Given the description of an element on the screen output the (x, y) to click on. 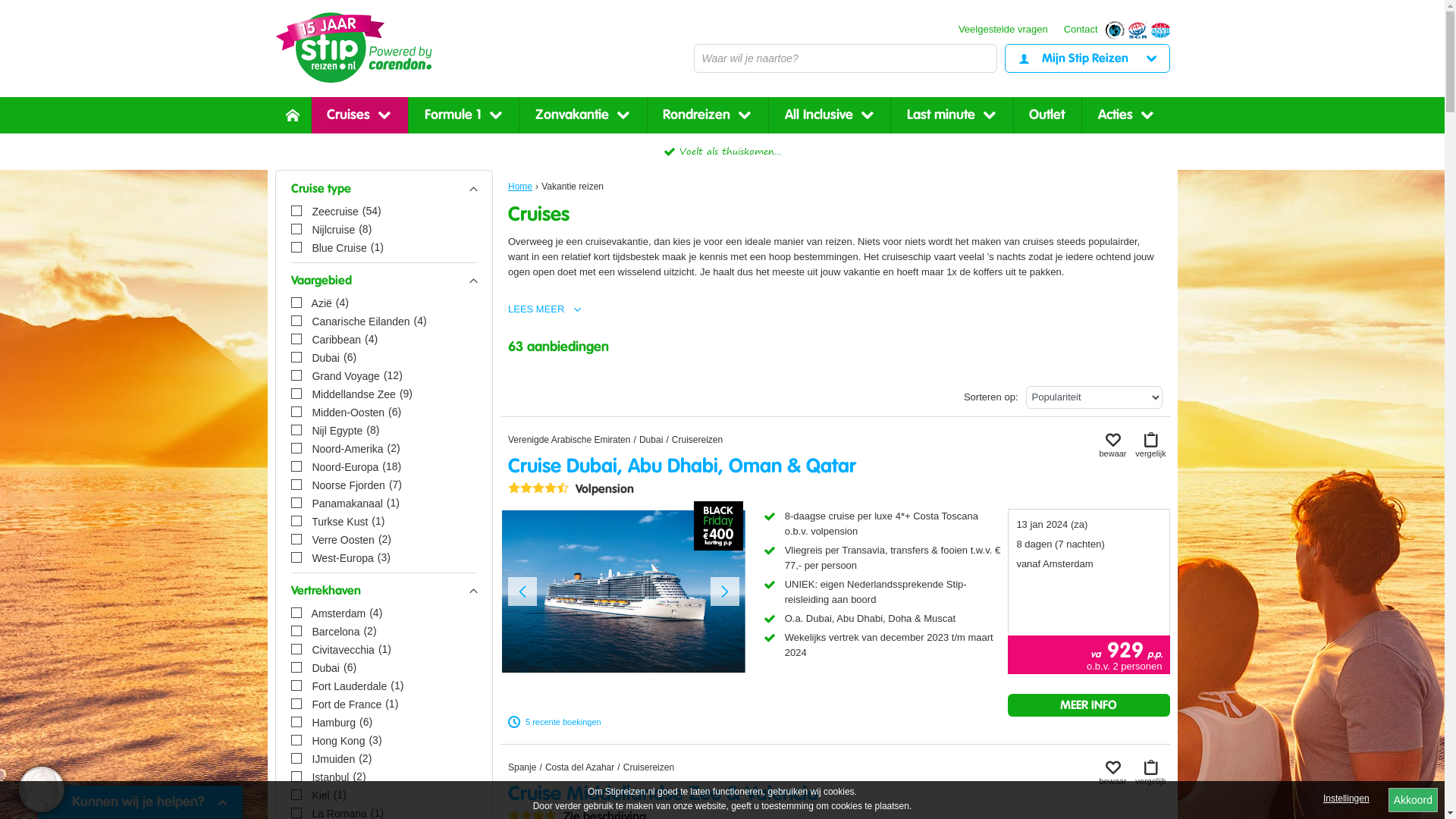
Home Element type: hover (292, 115)
LEES MEER Element type: text (541, 308)
Contact Element type: text (1080, 29)
Veelgestelde vragen Element type: text (1003, 29)
Home Element type: hover (519, 760)
Home Element type: text (520, 186)
Cruise Dubai, Abu Dhabi, Oman & Qatar Element type: text (682, 466)
Outlet Element type: text (1047, 115)
Cruise Middellandse Zee & Valencia Element type: text (663, 793)
Goedkope vakantie boeken met Stip Reizen Element type: hover (353, 47)
Home Element type: hover (519, 433)
MEER INFO Element type: text (1088, 704)
